Given the description of an element on the screen output the (x, y) to click on. 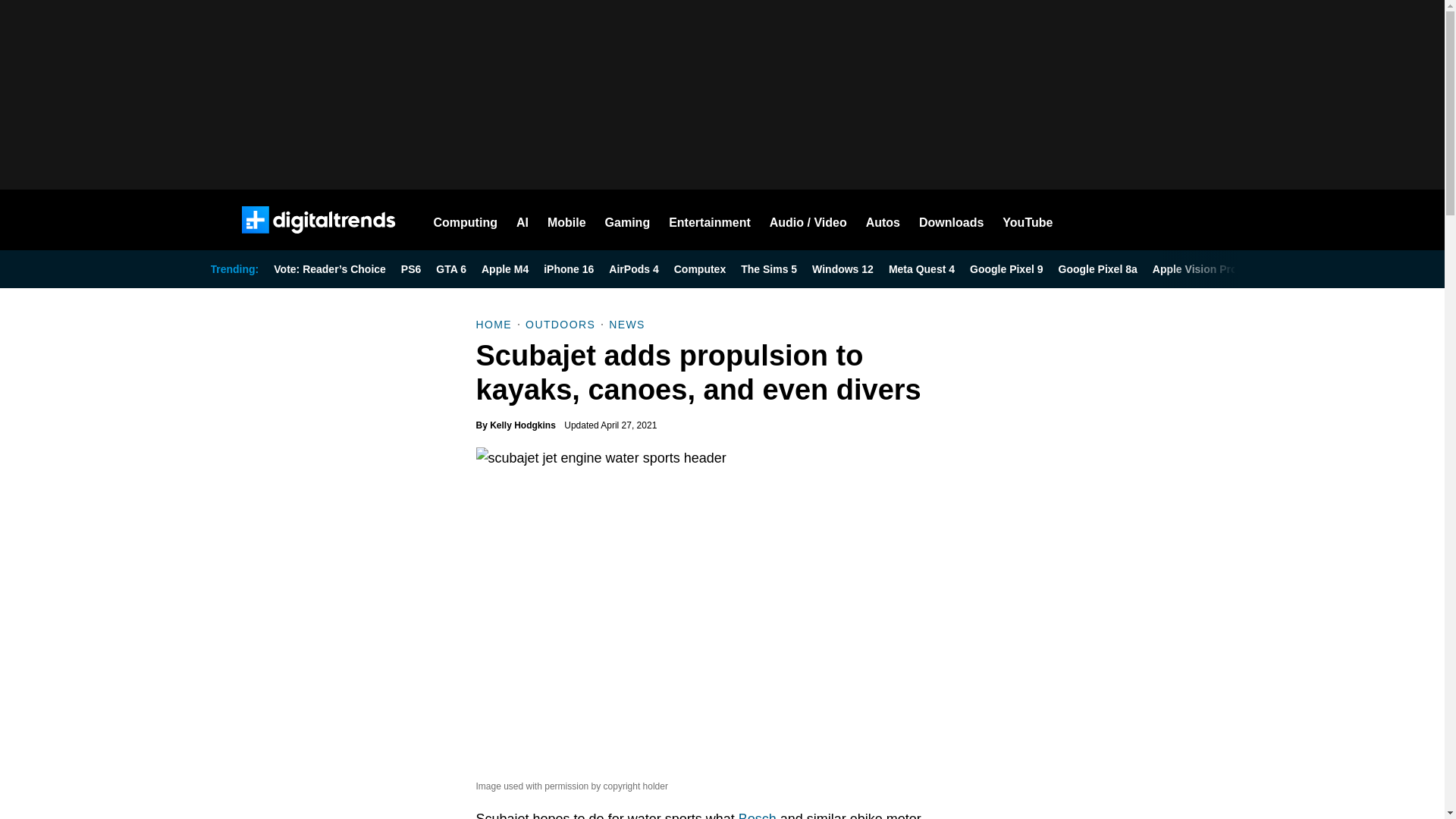
Entertainment (709, 219)
Computing (465, 219)
Downloads (951, 219)
